Given the description of an element on the screen output the (x, y) to click on. 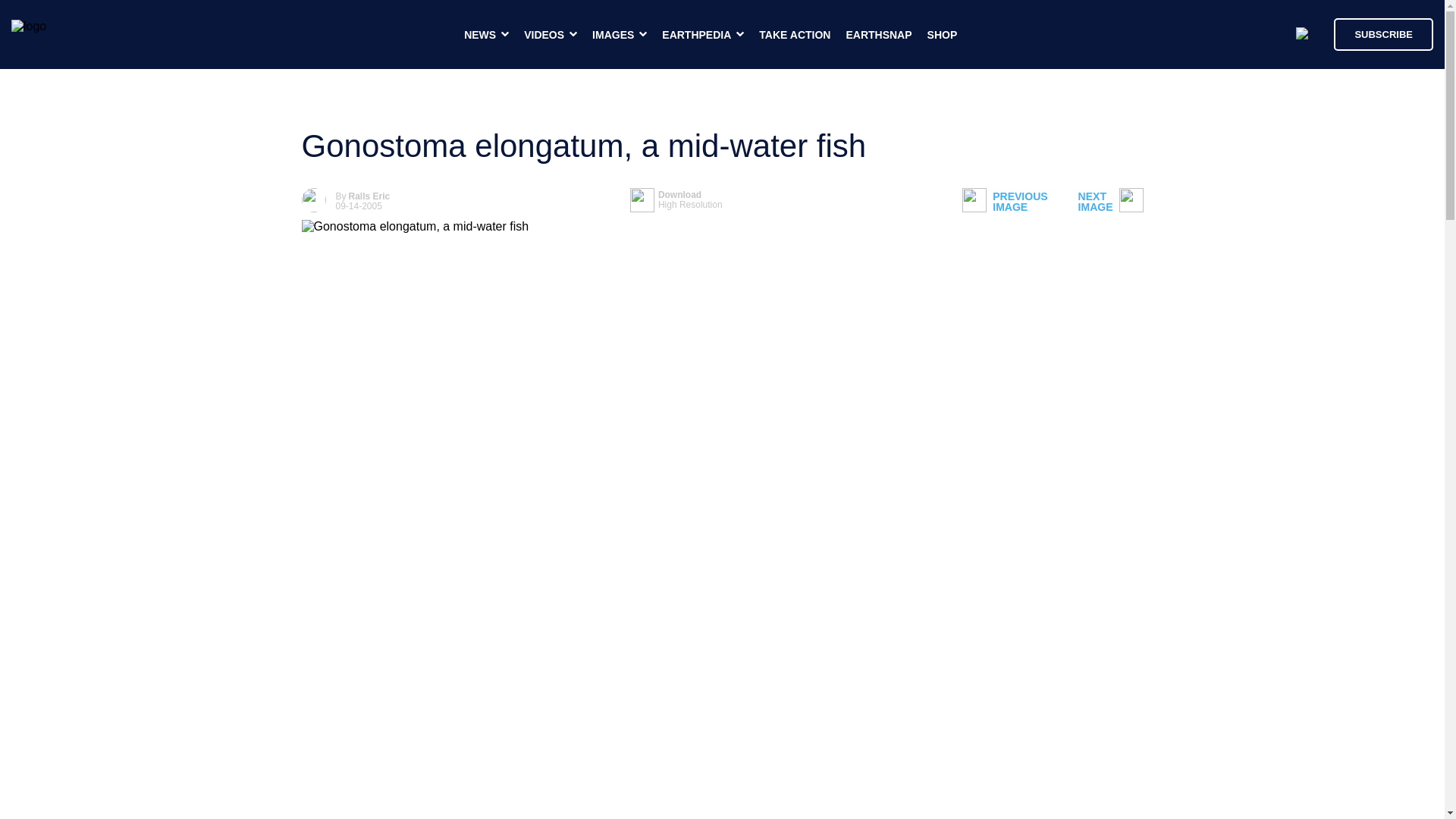
SHOP (676, 200)
EARTHSNAP (942, 34)
SUBSCRIBE (878, 34)
TAKE ACTION (1382, 34)
Ralls Eric (1004, 201)
